Given the description of an element on the screen output the (x, y) to click on. 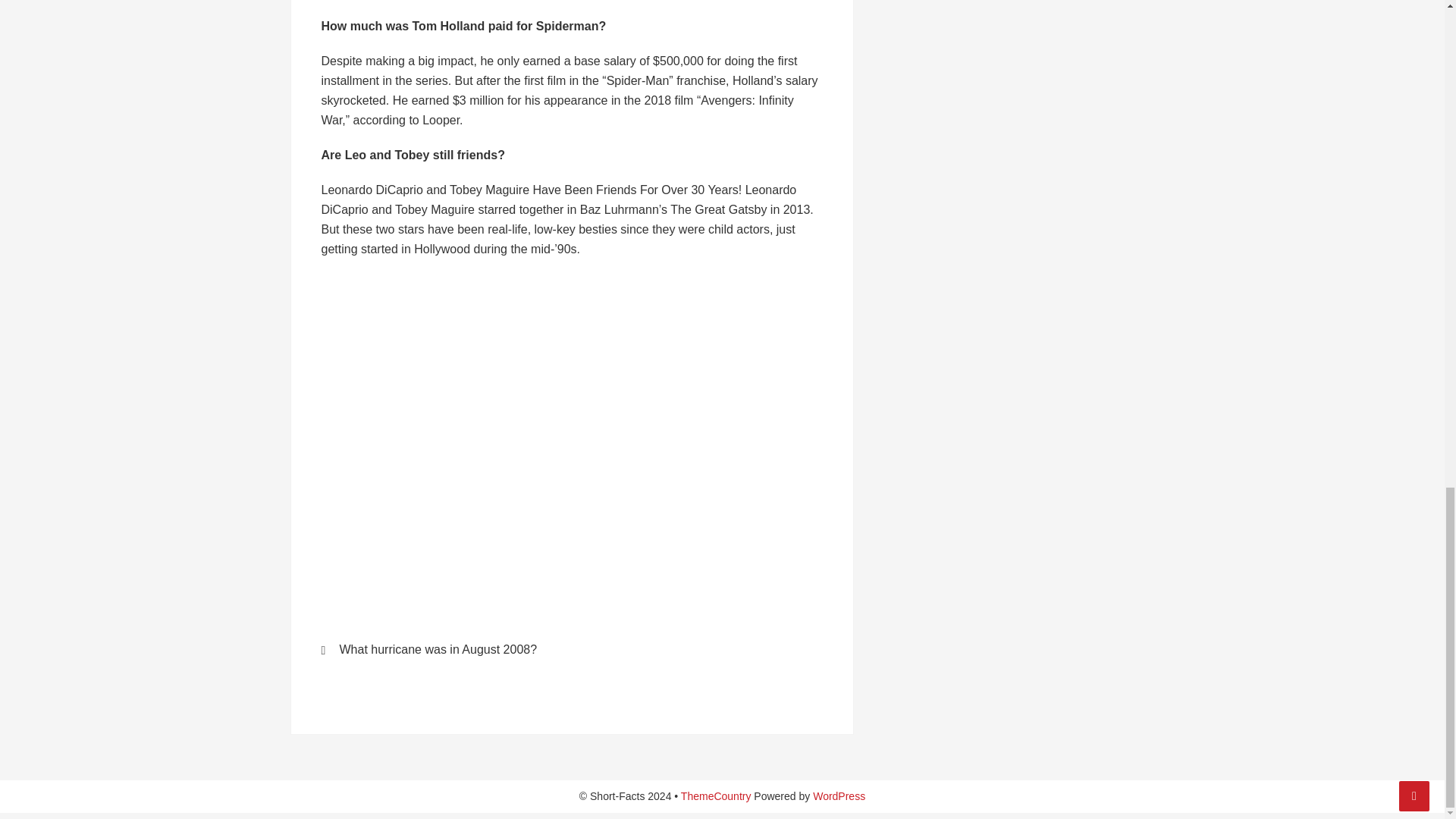
What hurricane was in August 2008? (436, 649)
WordPress (838, 796)
BasePress - The best free WordPress blog theme for WordPress (716, 796)
Why Tobey Maguire Will Always Be the Best Spider-Man (563, 410)
ThemeCountry (716, 796)
